Given the description of an element on the screen output the (x, y) to click on. 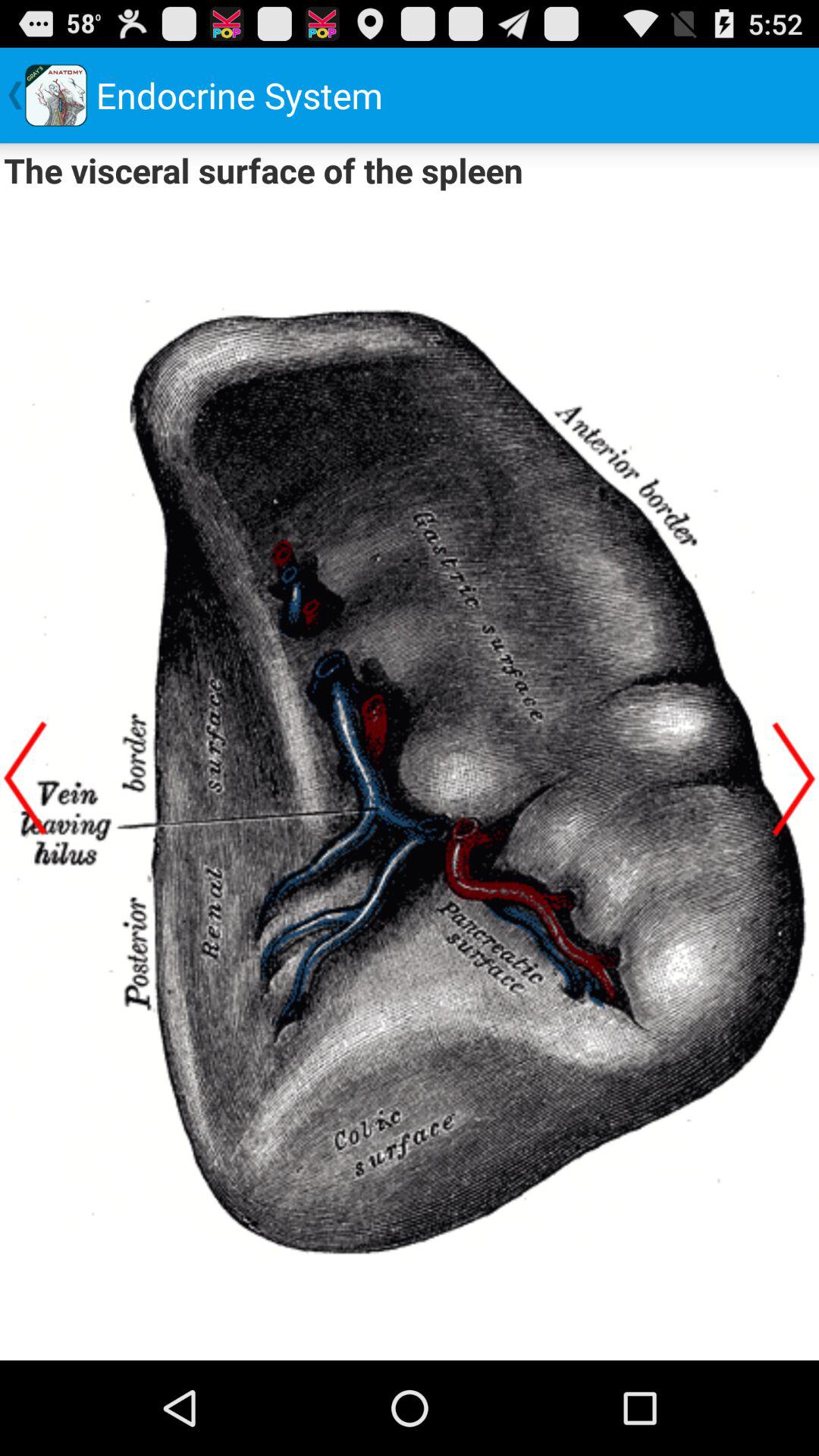
next page (793, 778)
